Given the description of an element on the screen output the (x, y) to click on. 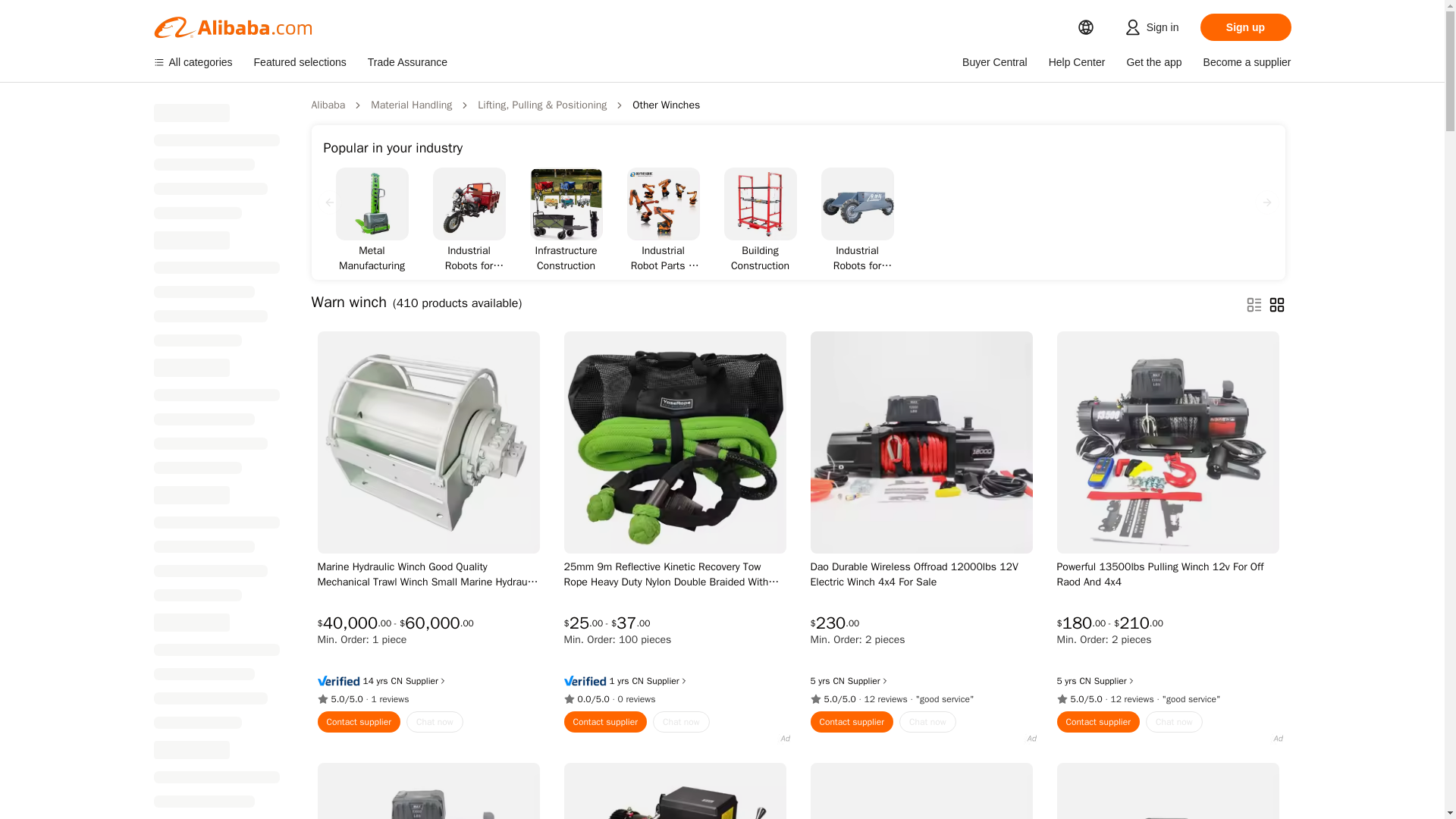
Suzhou Dao Material Technologies Co., Ltd. (838, 680)
Ini Hydraulic Co., Ltd. (397, 680)
Suzhou Dao Material Technologies Co., Ltd. (1084, 680)
